Given the description of an element on the screen output the (x, y) to click on. 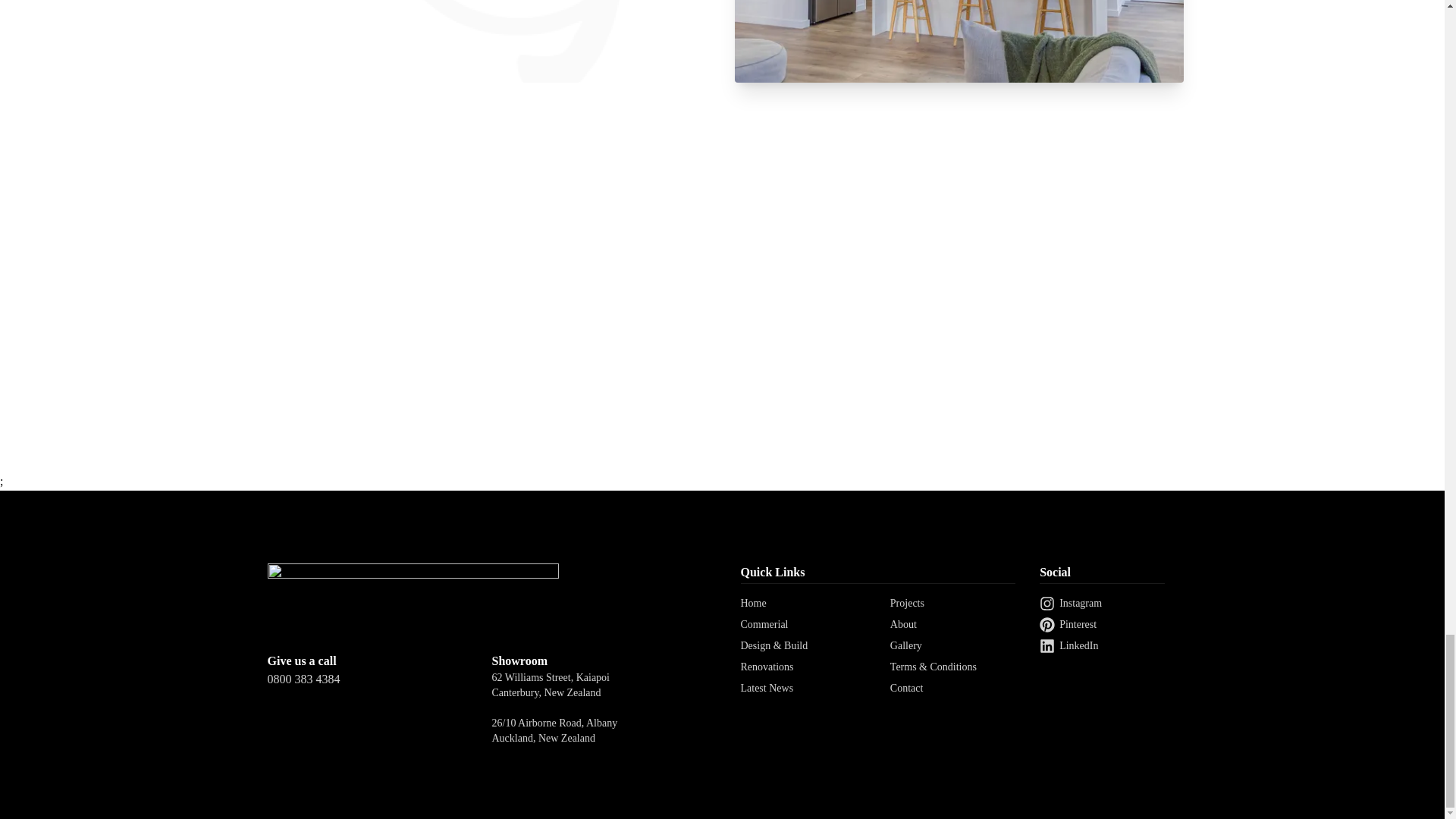
0800 383 4384 (379, 679)
Commerial (763, 624)
Pinterest (1101, 624)
LinkedIn (1101, 645)
Latest News (766, 687)
Renovations (766, 666)
About (903, 624)
Gallery (905, 645)
Home (752, 603)
Projects (906, 603)
Instagram (1101, 603)
Contact (906, 687)
